Given the description of an element on the screen output the (x, y) to click on. 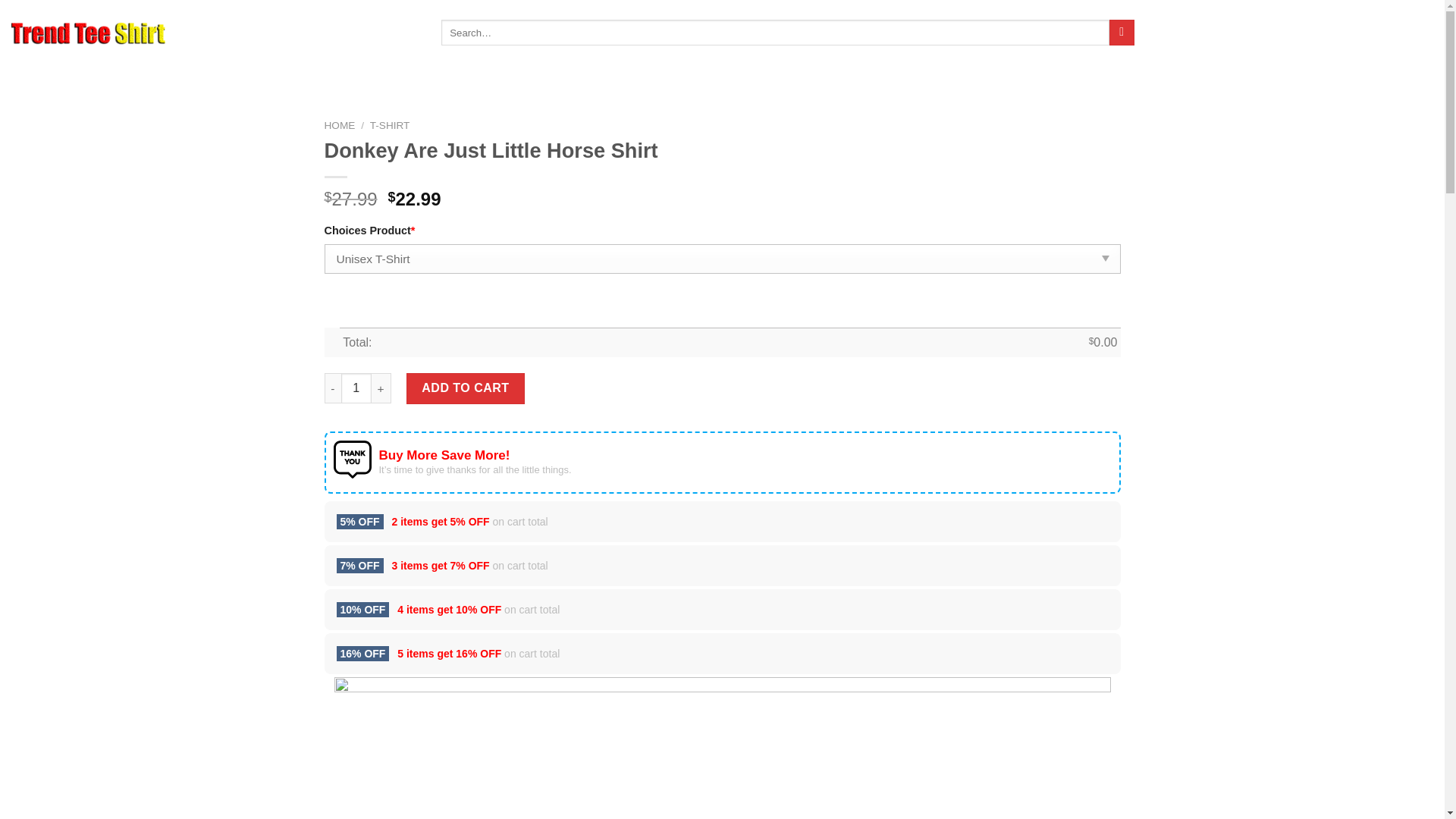
1 (355, 388)
FAQS (242, 32)
Cart (1387, 32)
HOME (201, 32)
ADD TO CART (465, 388)
HOME (339, 125)
Search (1121, 32)
CONTACT (290, 32)
Shop Trending T-shirt Online (88, 32)
T-SHIRT (389, 125)
